Given the description of an element on the screen output the (x, y) to click on. 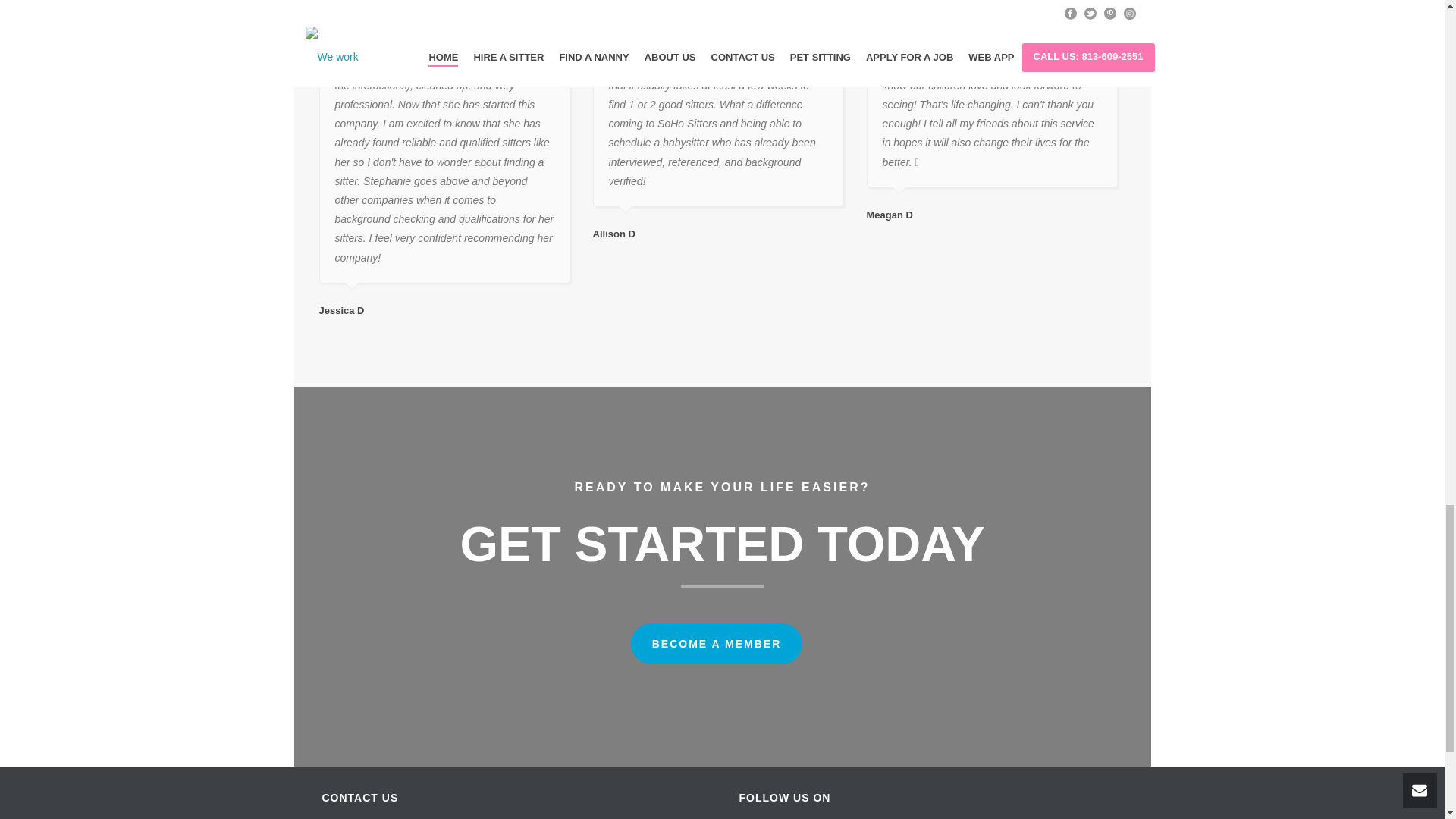
BECOME A MEMBER (716, 643)
